Given the description of an element on the screen output the (x, y) to click on. 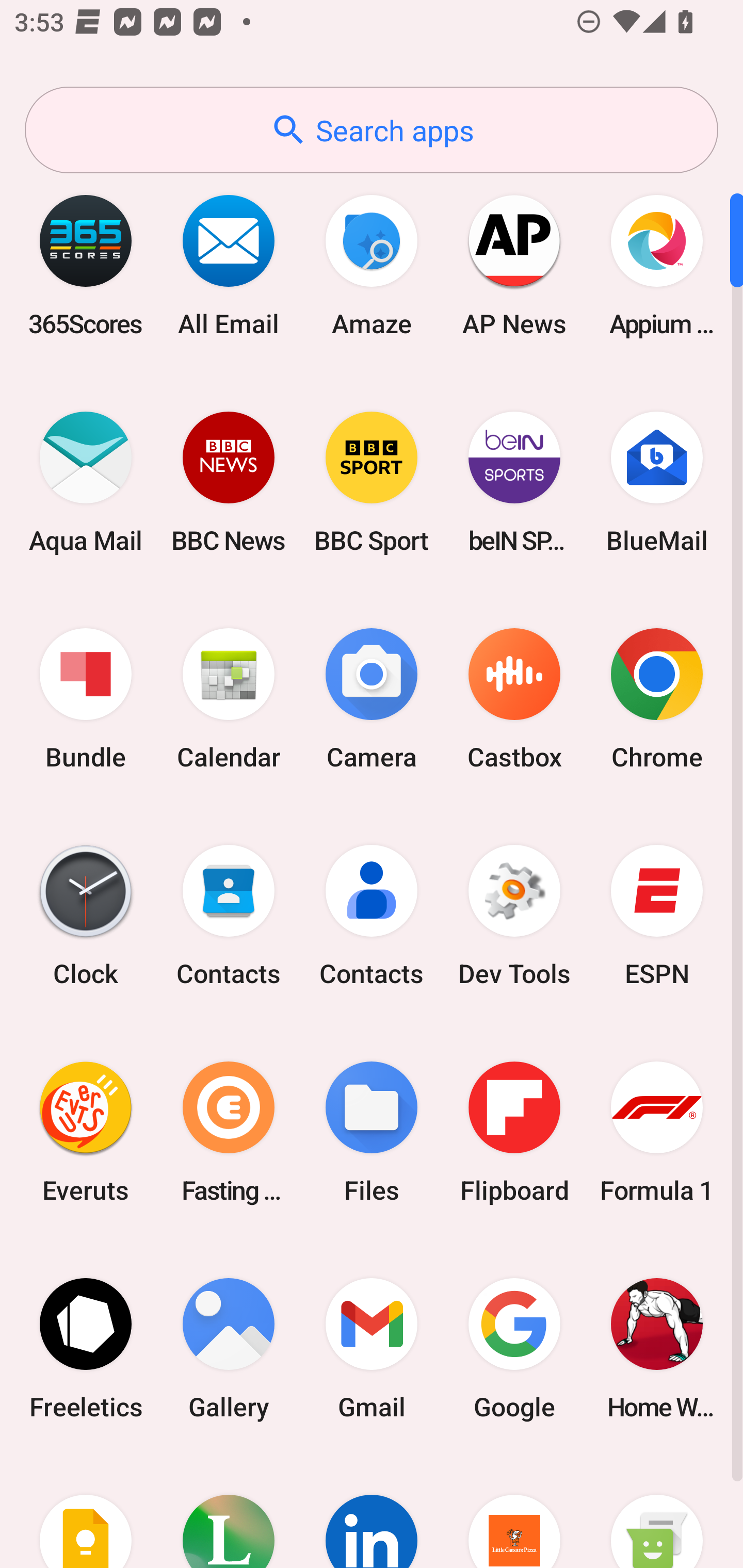
  Search apps (371, 130)
365Scores (85, 264)
All Email (228, 264)
Amaze (371, 264)
AP News (514, 264)
Appium Settings (656, 264)
Aqua Mail (85, 482)
BBC News (228, 482)
BBC Sport (371, 482)
beIN SPORTS (514, 482)
BlueMail (656, 482)
Bundle (85, 699)
Calendar (228, 699)
Camera (371, 699)
Castbox (514, 699)
Chrome (656, 699)
Clock (85, 915)
Contacts (228, 915)
Contacts (371, 915)
Dev Tools (514, 915)
ESPN (656, 915)
Everuts (85, 1131)
Fasting Coach (228, 1131)
Files (371, 1131)
Flipboard (514, 1131)
Formula 1 (656, 1131)
Freeletics (85, 1348)
Gallery (228, 1348)
Gmail (371, 1348)
Google (514, 1348)
Home Workout (656, 1348)
Keep Notes (85, 1512)
Lifesum (228, 1512)
LinkedIn (371, 1512)
Little Caesars Pizza (514, 1512)
Messaging (656, 1512)
